Given the description of an element on the screen output the (x, y) to click on. 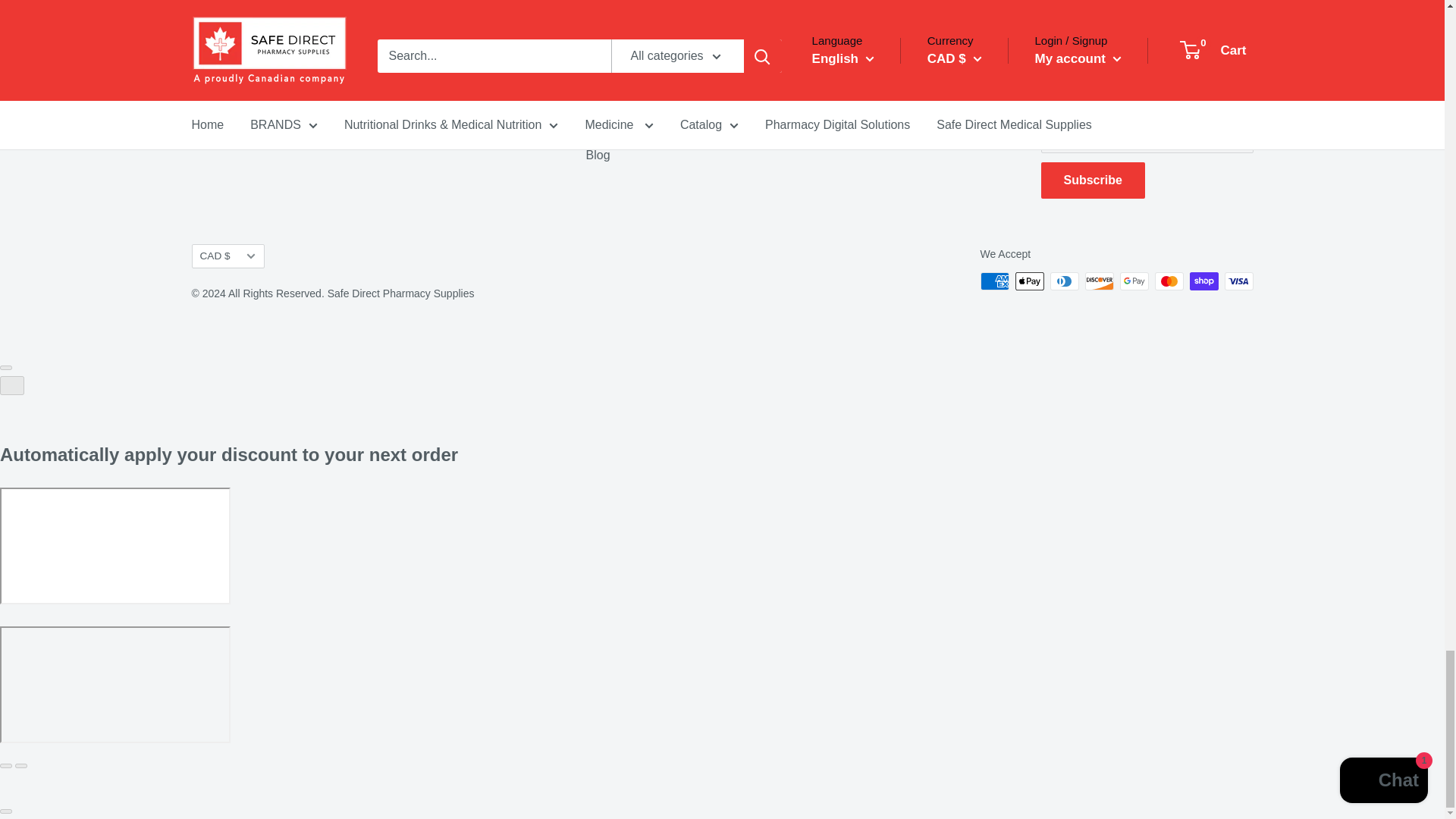
Show Catalog (296, 104)
